Given the description of an element on the screen output the (x, y) to click on. 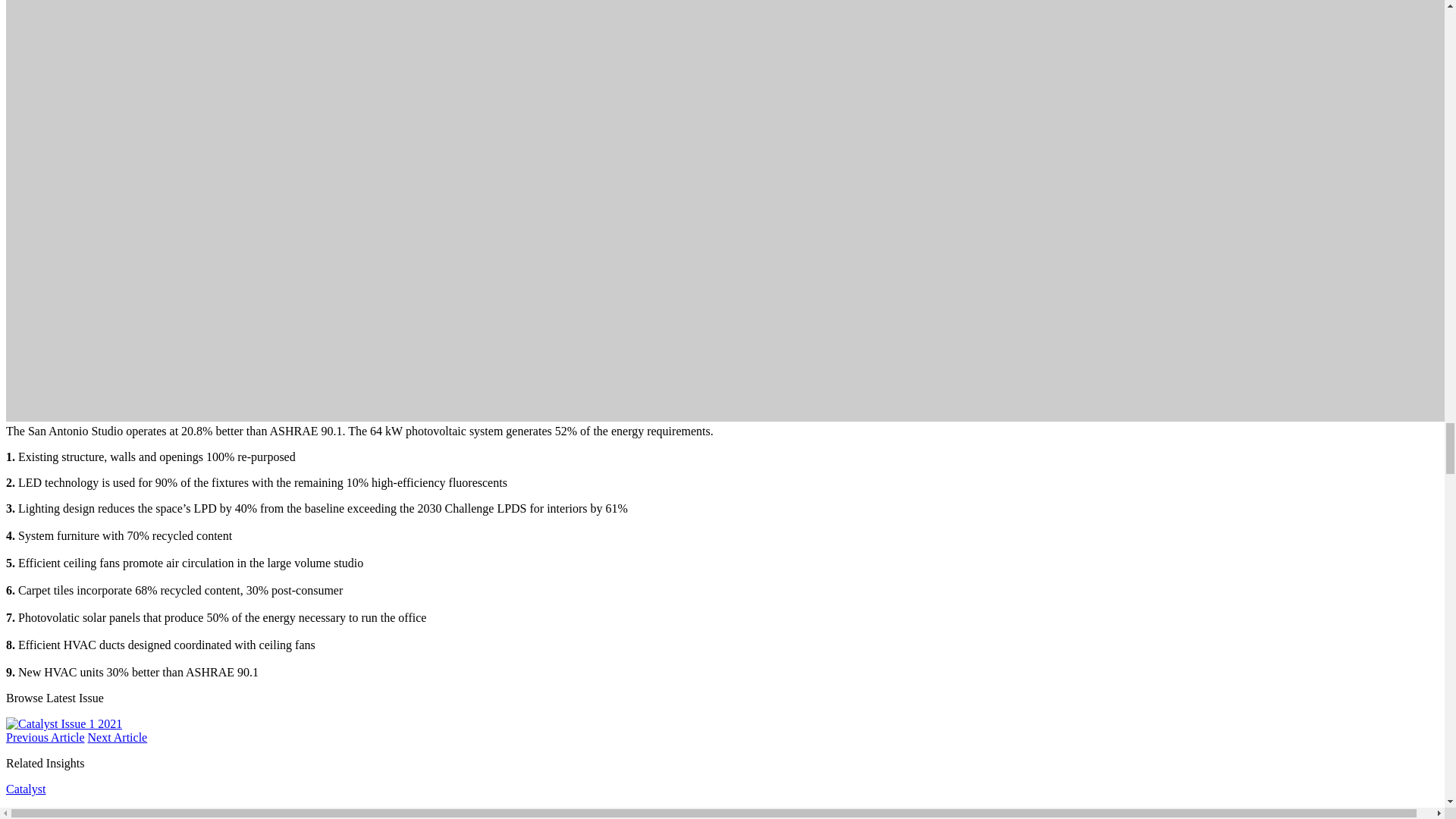
Previous Article (44, 737)
Next Article (117, 737)
